Given the description of an element on the screen output the (x, y) to click on. 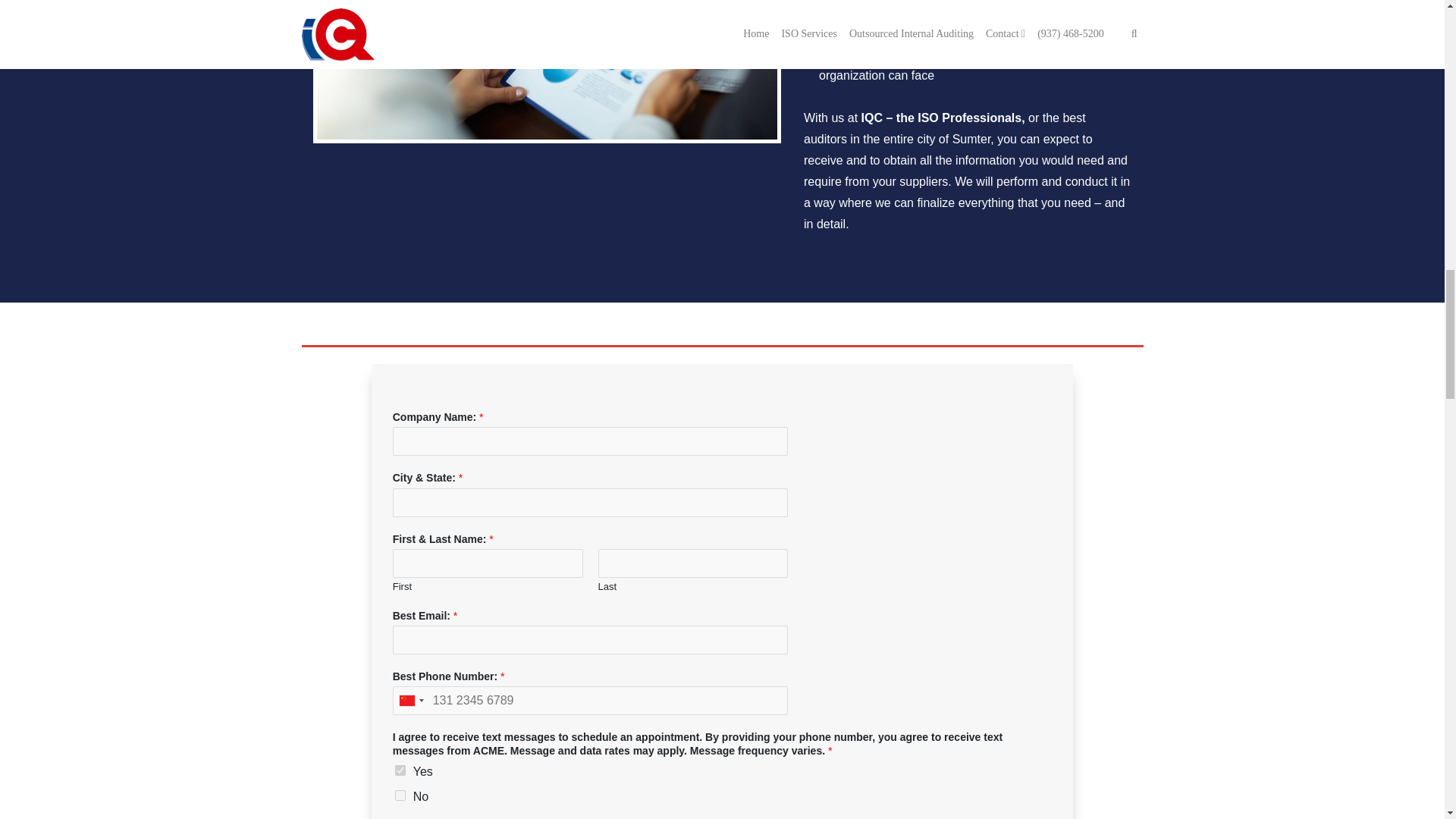
No (400, 795)
Supplier Audits-IQC ISO9001 (547, 69)
Yes (400, 769)
